Given the description of an element on the screen output the (x, y) to click on. 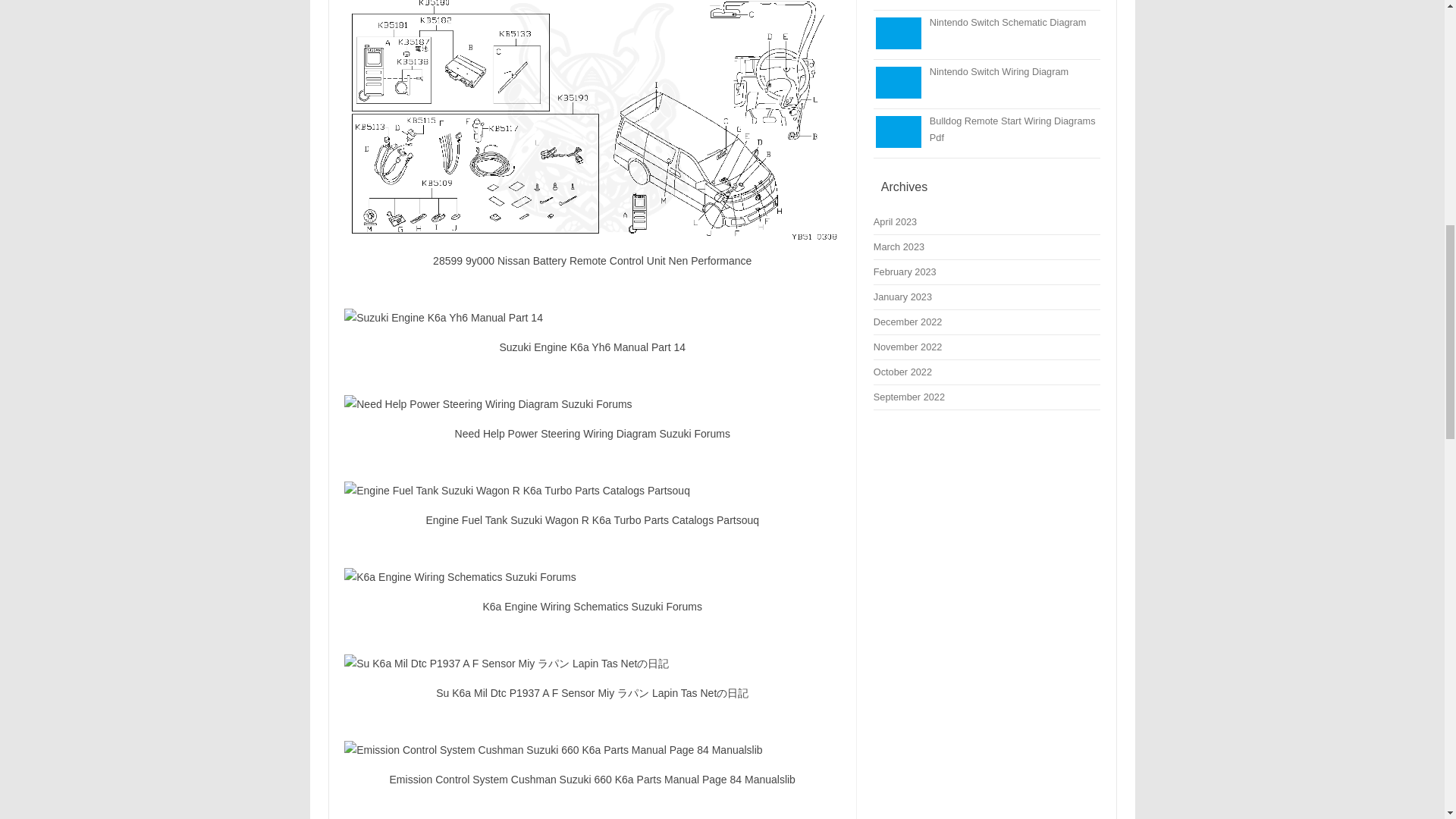
Nintendo Switch Wiring Diagram (999, 71)
April 2023 (895, 221)
December 2022 (907, 321)
K6a Engine Wiring Schematics Suzuki Forums (591, 577)
January 2023 (902, 296)
Nintendo Switch Schematic Diagram (1008, 21)
March 2023 (898, 246)
Suzuki Engine K6a Yh6 Manual Part 14 (591, 317)
September 2022 (908, 396)
February 2023 (904, 271)
Bulldog Remote Start Wiring Diagrams Pdf (1013, 129)
Need Help Power Steering Wiring Diagram Suzuki Forums (591, 403)
